Given the description of an element on the screen output the (x, y) to click on. 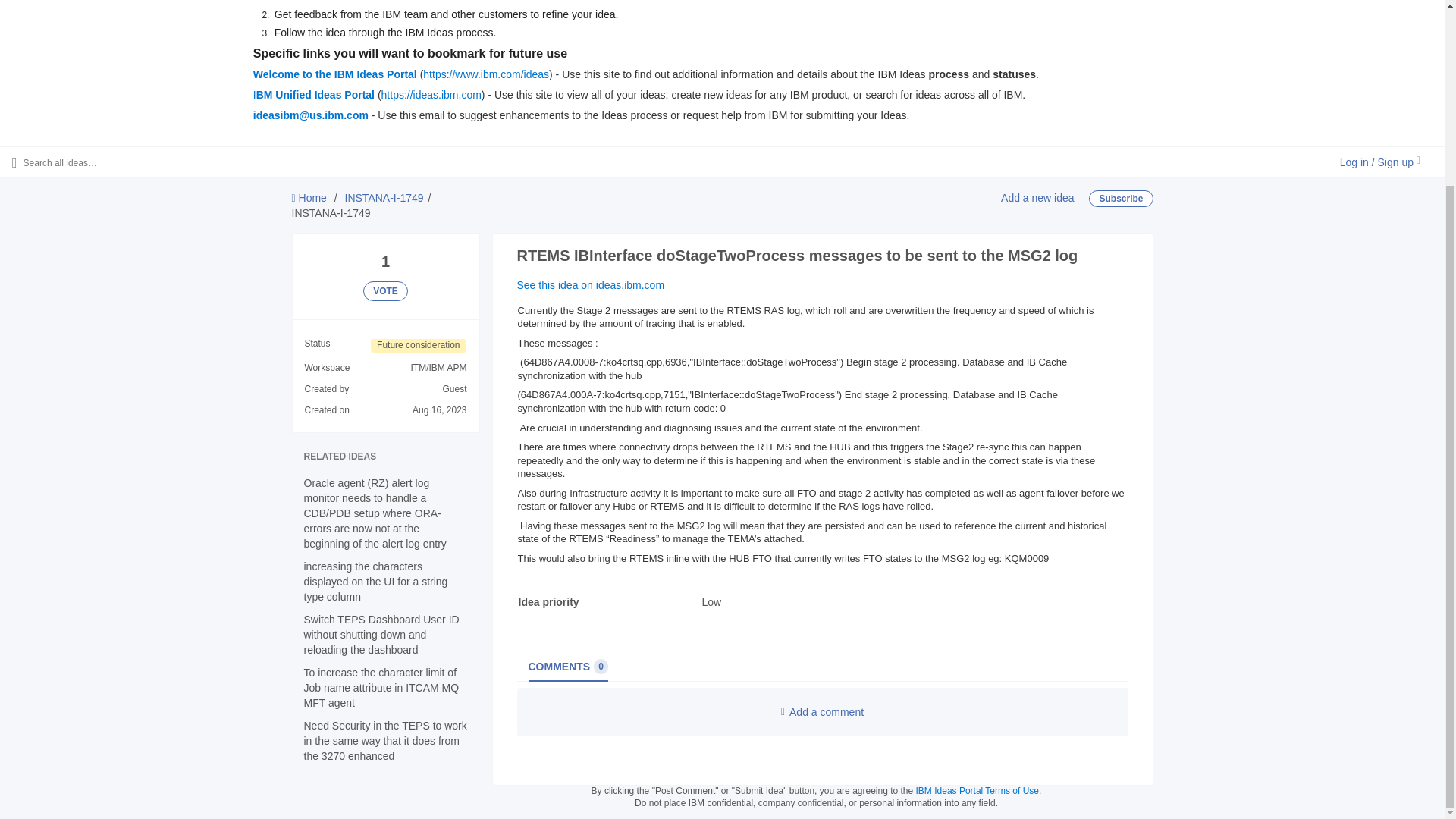
See this idea on ideas.ibm.com (590, 285)
Home (310, 197)
Add a new idea (567, 666)
INSTANA-I-1749 (1037, 197)
VOTE (384, 197)
Welcome to the IBM Ideas Portal (385, 291)
IBM Ideas Portal Terms of Use (334, 73)
IBM Unified Ideas Portal (977, 790)
Add a comment (313, 94)
Future consideration (822, 711)
Subscribe (418, 345)
